Given the description of an element on the screen output the (x, y) to click on. 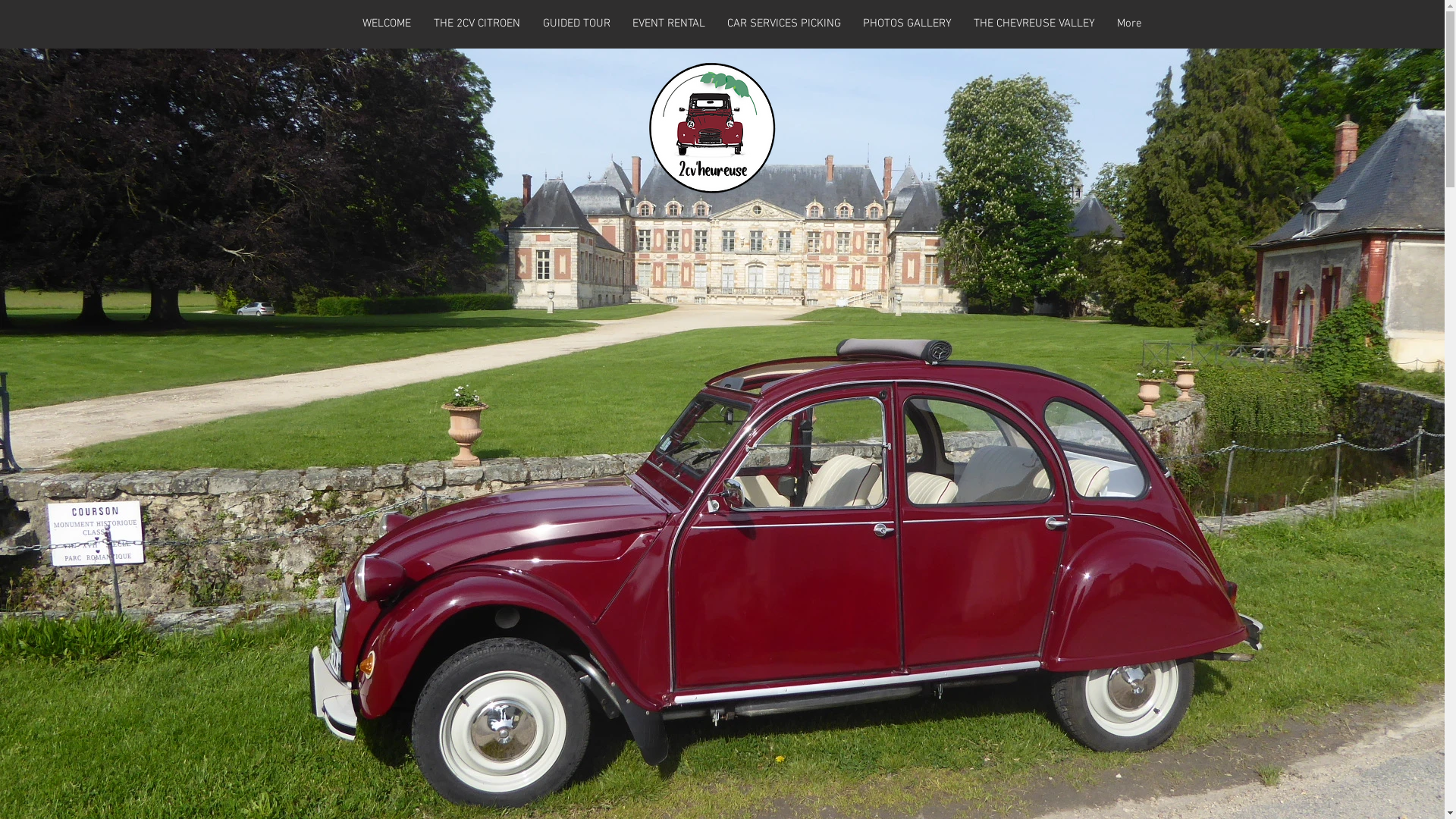
2cv heureuse4.png Element type: hover (711, 127)
CAR SERVICES PICKING Element type: text (783, 23)
GUIDED TOUR Element type: text (575, 23)
WELCOME Element type: text (385, 23)
THE 2CV CITROEN Element type: text (475, 23)
THE CHEVREUSE VALLEY Element type: text (1034, 23)
PHOTOS GALLERY Element type: text (907, 23)
EVENT RENTAL Element type: text (668, 23)
